Given the description of an element on the screen output the (x, y) to click on. 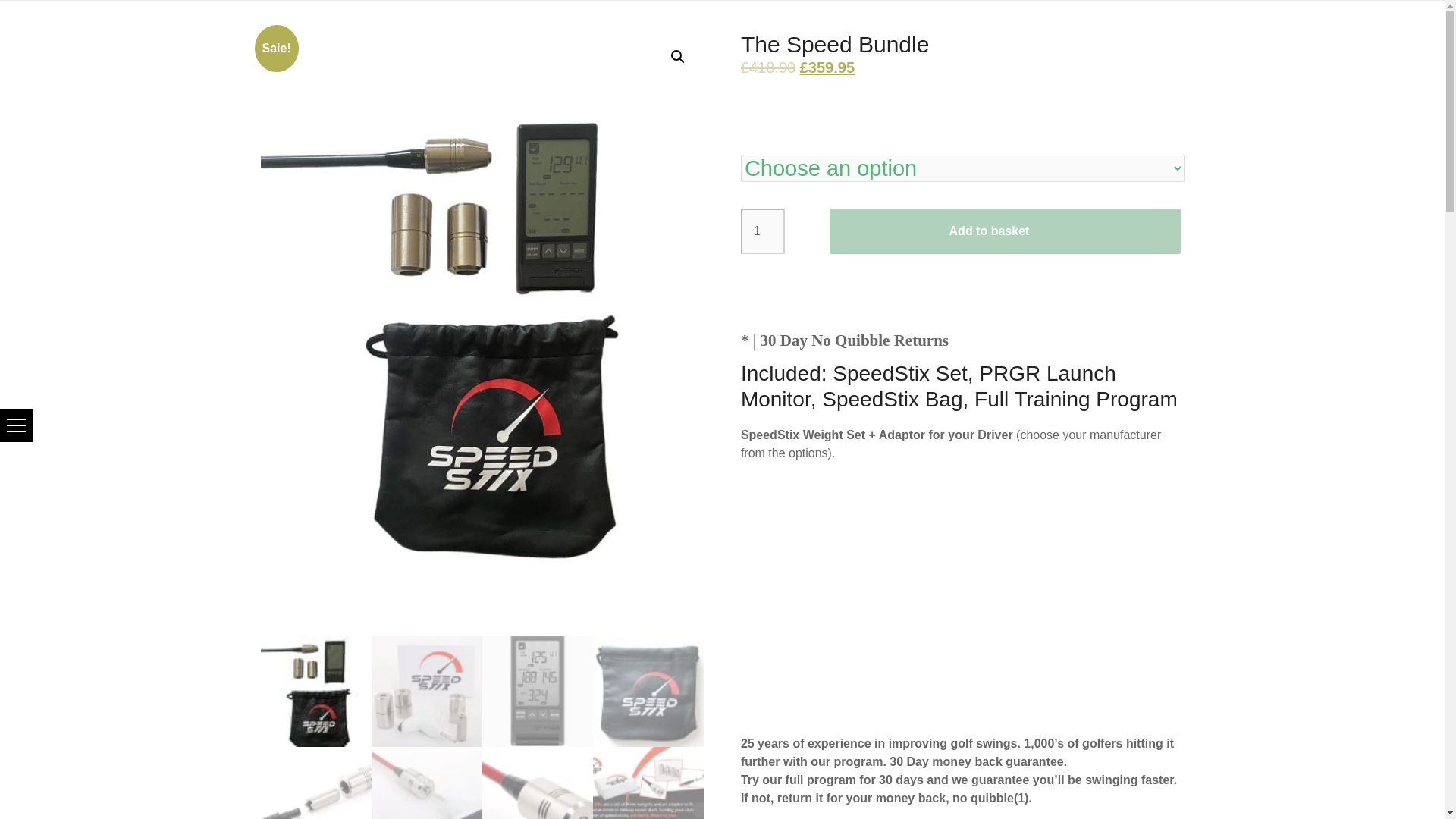
1 (762, 230)
Add to basket (1004, 230)
Search (42, 11)
